Given the description of an element on the screen output the (x, y) to click on. 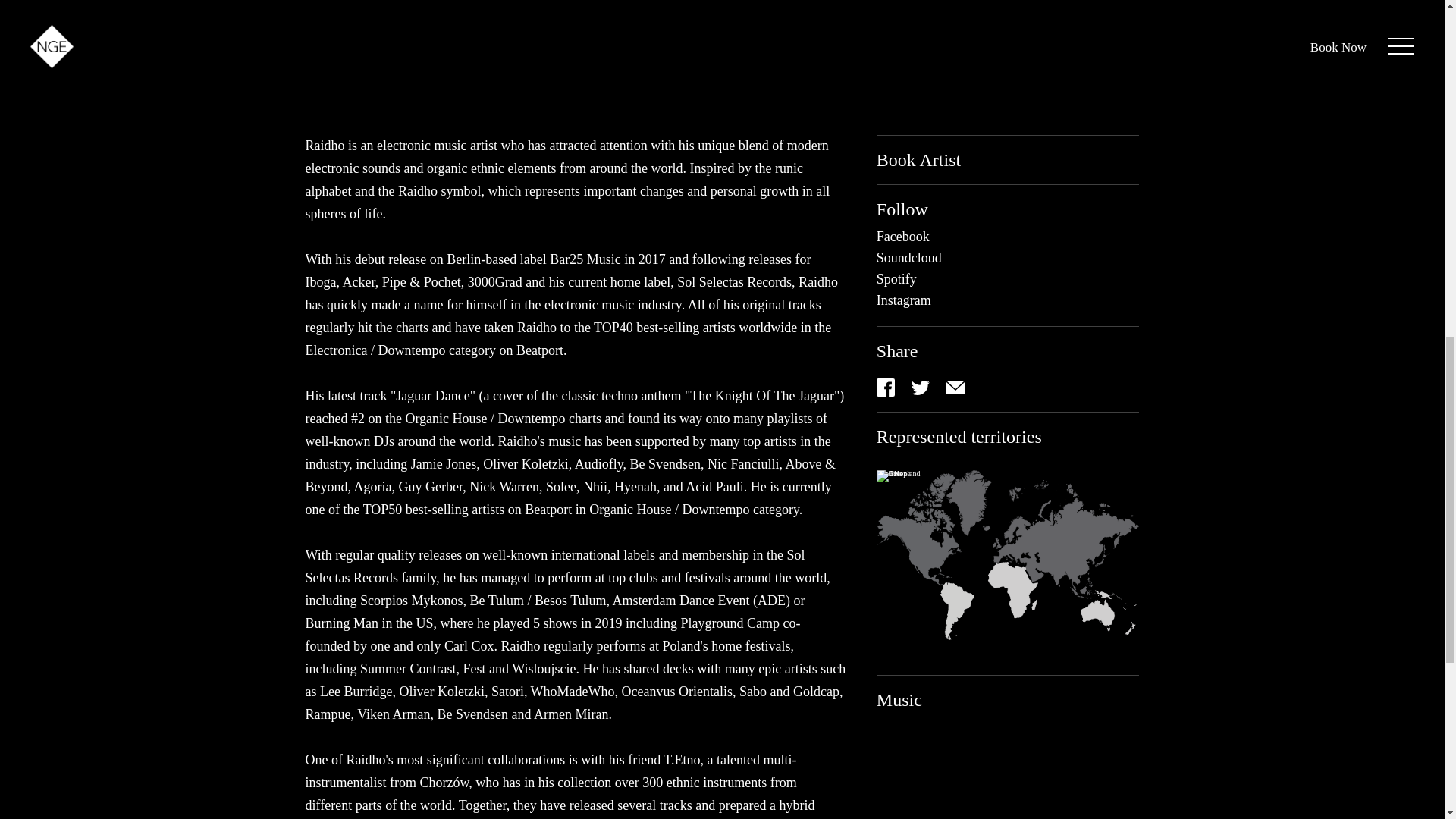
Facebook (903, 236)
Instagram (903, 300)
Book Artist (930, 159)
Soundcloud (909, 257)
Spotify (896, 278)
